Given the description of an element on the screen output the (x, y) to click on. 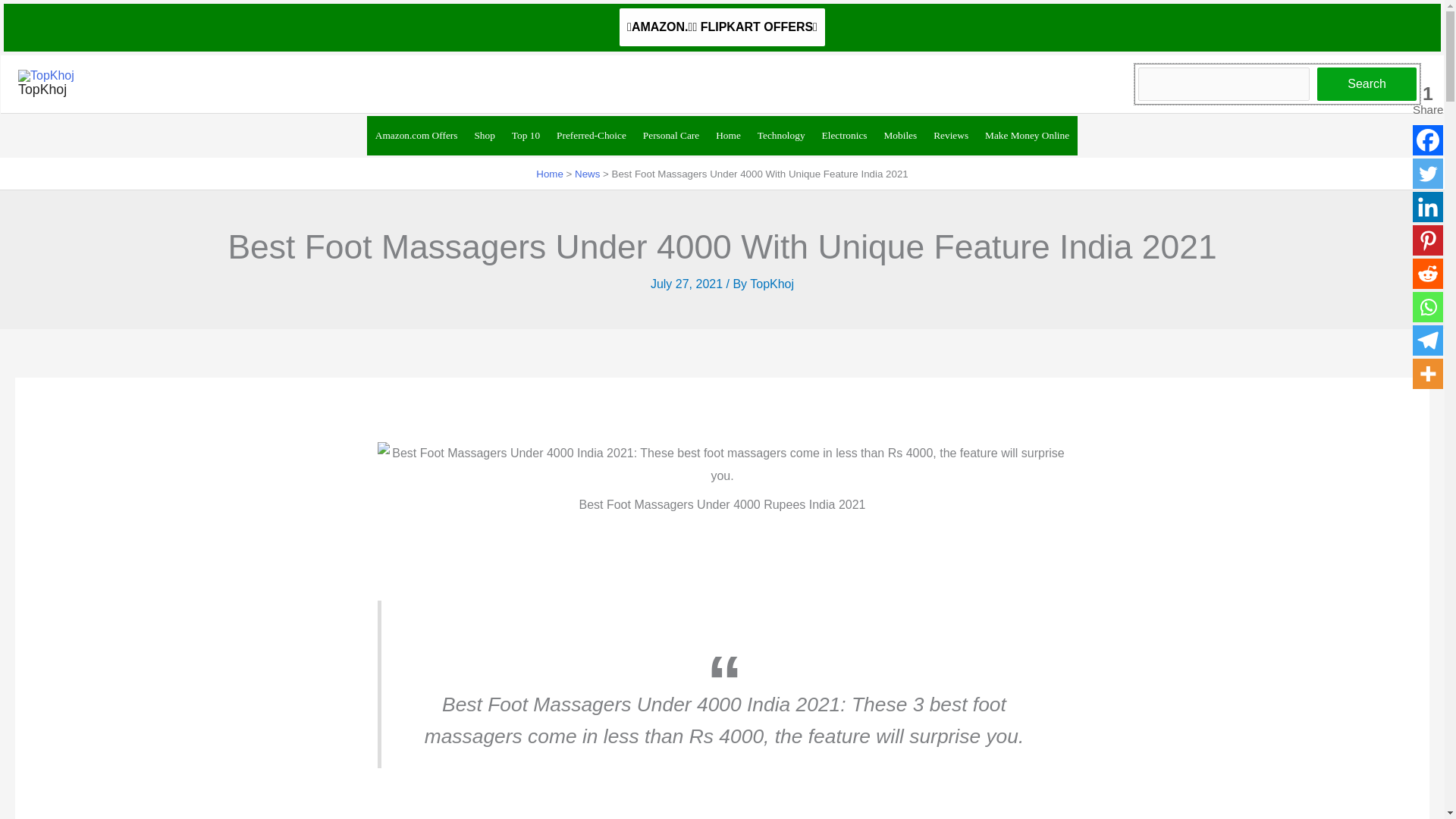
Total Shares (1427, 100)
Personal Care (670, 135)
Make Money Online (1026, 135)
More (1427, 373)
Home (549, 173)
Whatsapp (1427, 306)
Electronics (844, 135)
Preferred-Choice (591, 135)
Pinterest (1427, 240)
Amazon.com Offers (415, 135)
